Given the description of an element on the screen output the (x, y) to click on. 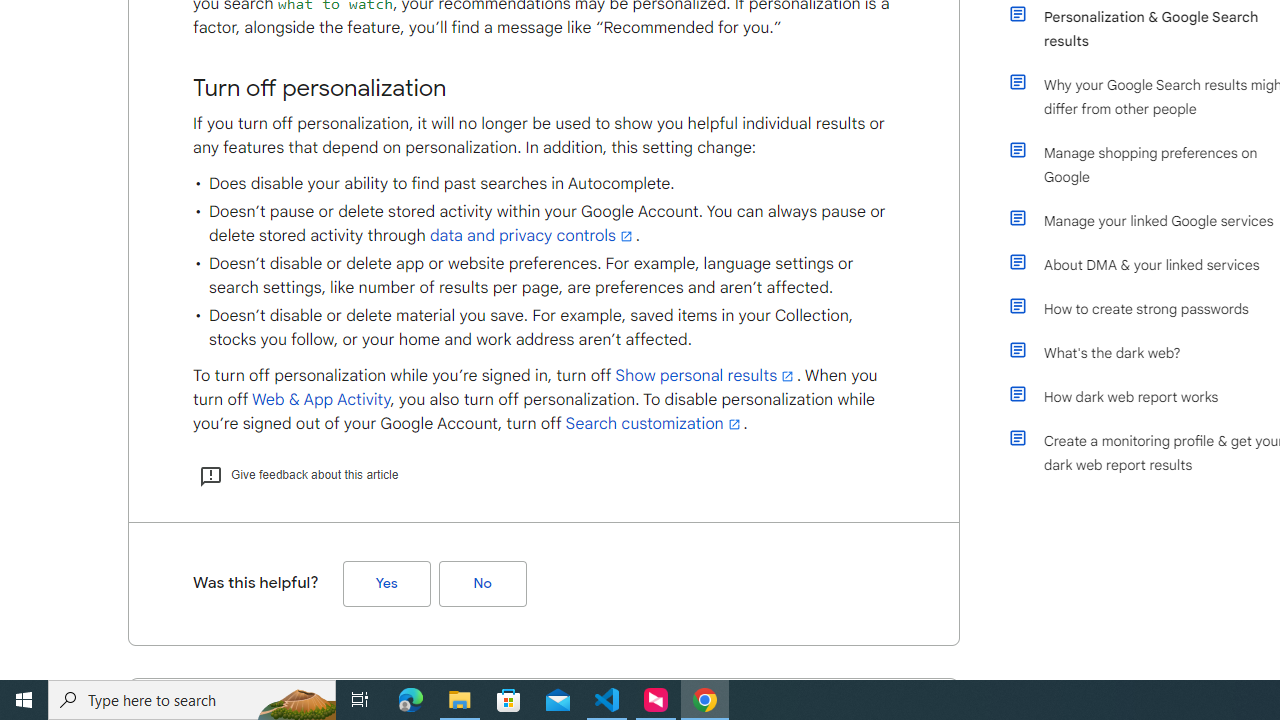
Web & App Activity (320, 399)
Yes (Was this helpful?) (386, 583)
data and privacy controls (532, 236)
Show personal results (705, 375)
Search customization (653, 423)
No (Was this helpful?) (482, 583)
Give feedback about this article (298, 474)
